Given the description of an element on the screen output the (x, y) to click on. 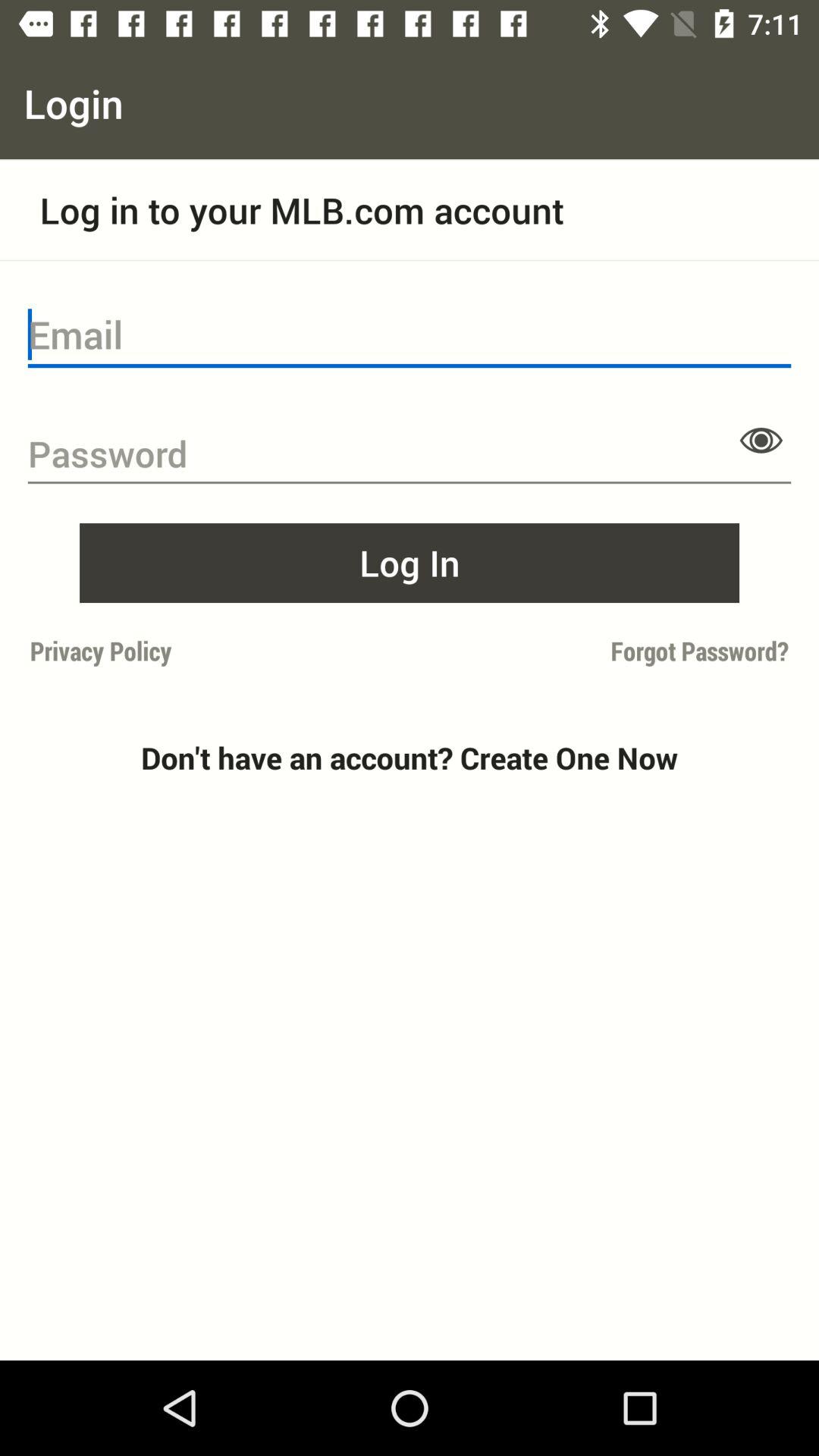
click icon below the log in (604, 650)
